Given the description of an element on the screen output the (x, y) to click on. 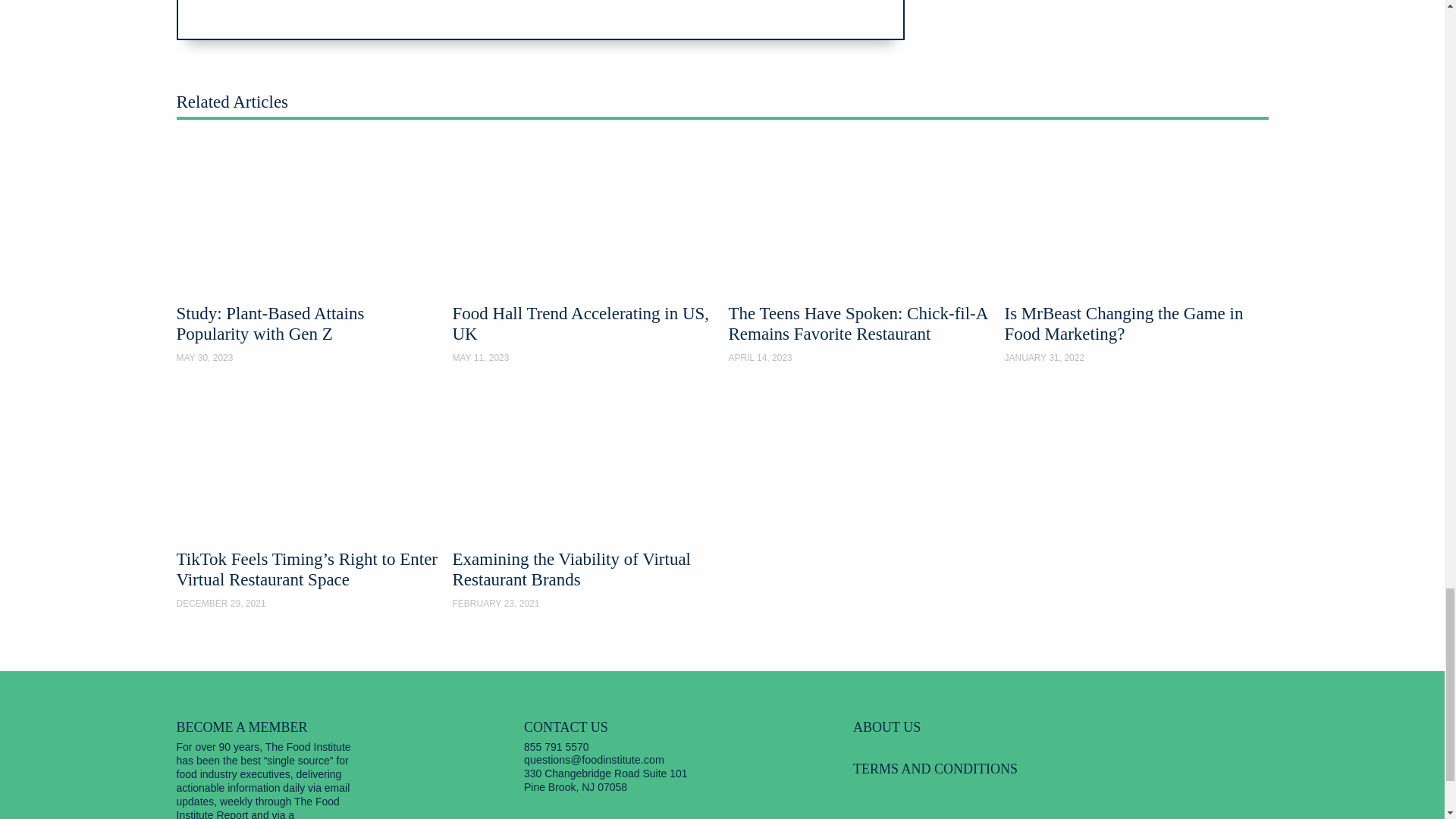
Food Hall Trend Accelerating in US, UK (583, 254)
Study: Plant-Based Attains Popularity with Gen Z (307, 254)
Is MrBeast Changing the Game in Food Marketing? (1136, 254)
Examining the Viability of Virtual Restaurant Brands (583, 499)
